Given the description of an element on the screen output the (x, y) to click on. 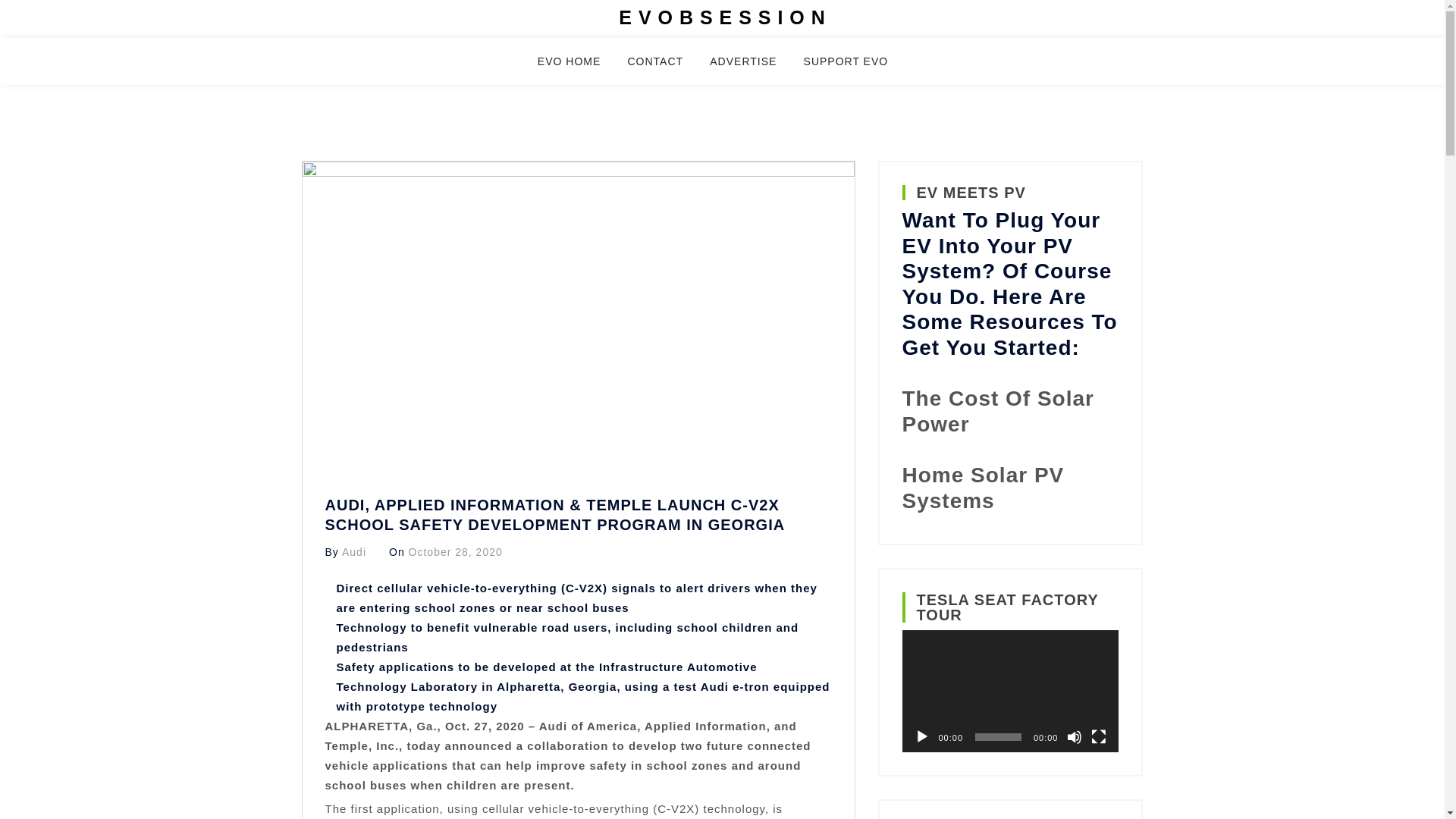
Mute (1074, 736)
Play (922, 736)
CONTACT (664, 68)
October 28, 2020 (455, 551)
Home Solar PV Systems (983, 487)
The Cost Of Solar Power (998, 410)
Fullscreen (1098, 736)
EVO HOME (578, 68)
ADVERTISE (752, 68)
SUPPORT EVO (855, 68)
